Given the description of an element on the screen output the (x, y) to click on. 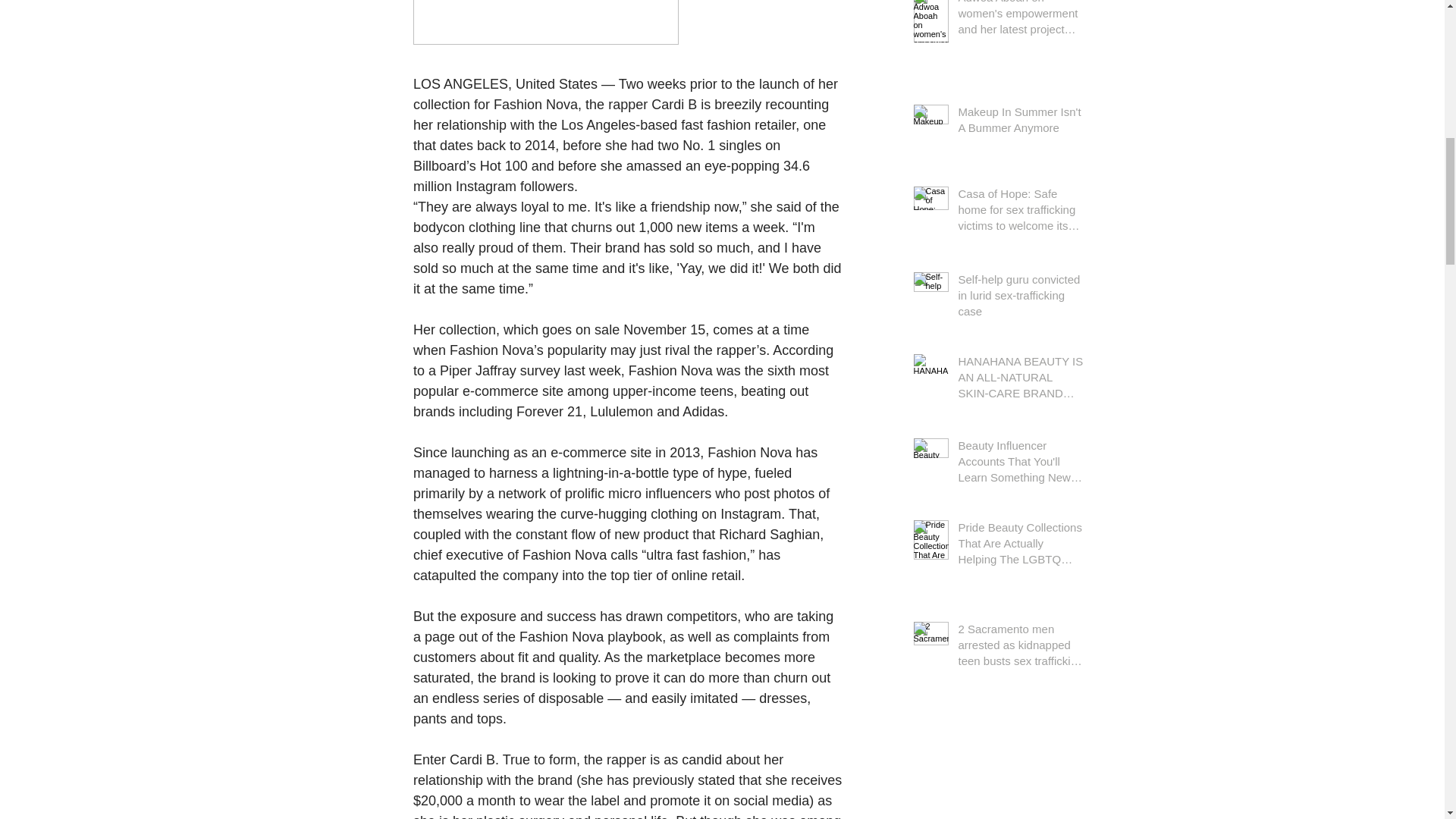
Self-help guru convicted in lurid sex-trafficking case (1021, 298)
Makeup In Summer Isn't A Bummer Anymore (1021, 121)
